Given the description of an element on the screen output the (x, y) to click on. 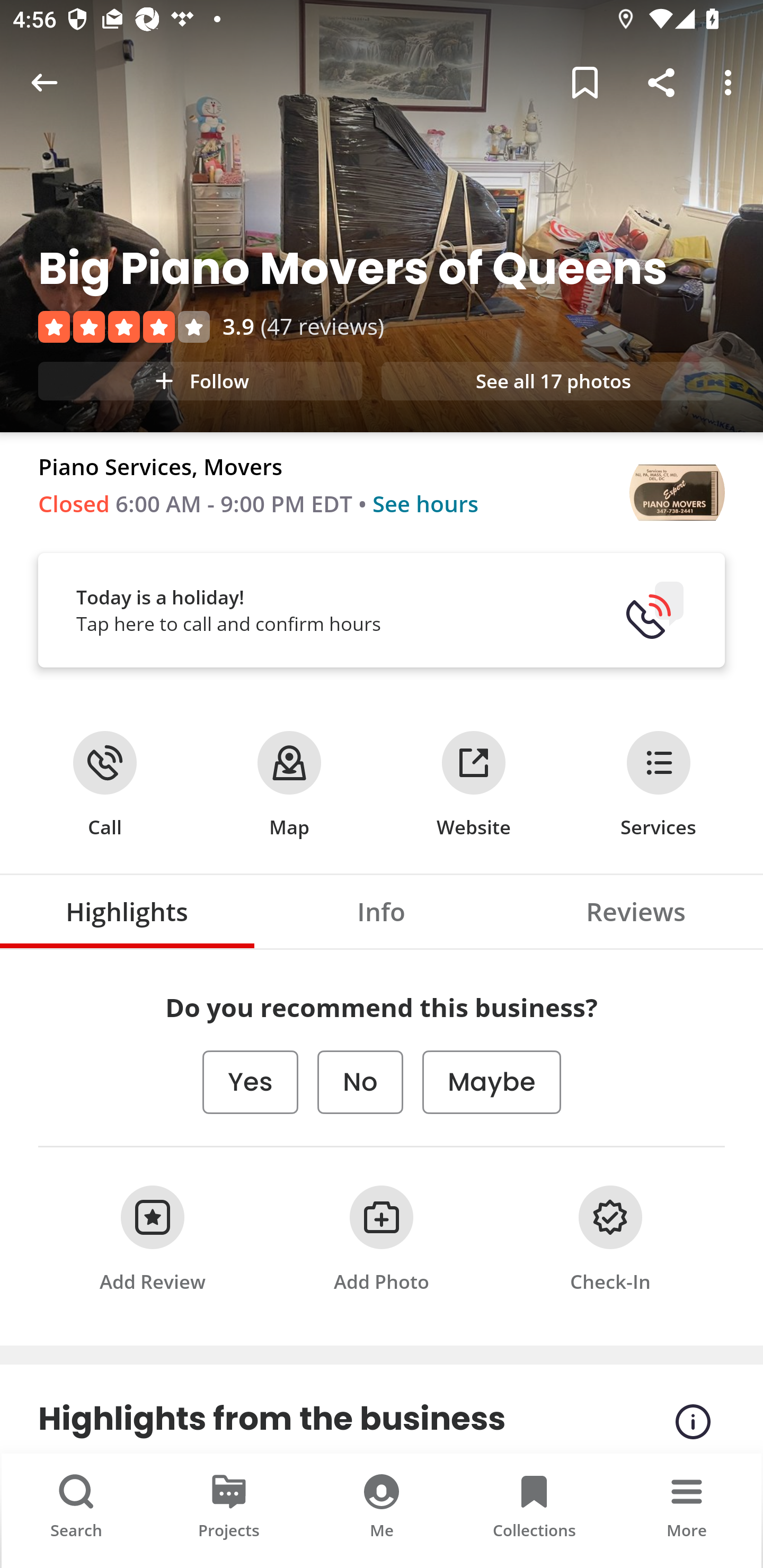
Info (381, 911)
